Given the description of an element on the screen output the (x, y) to click on. 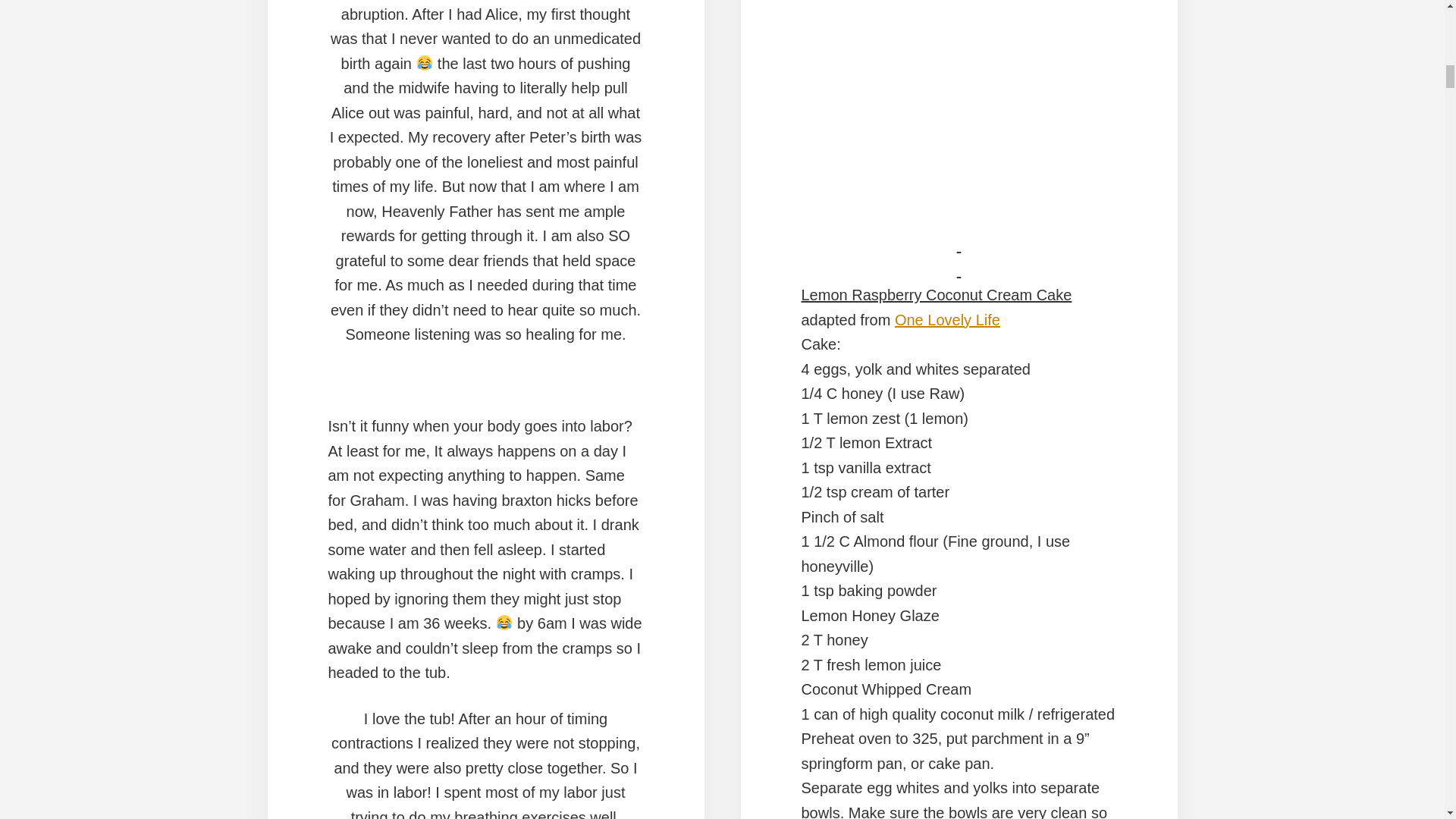
One Lovely Life (947, 320)
